Given the description of an element on the screen output the (x, y) to click on. 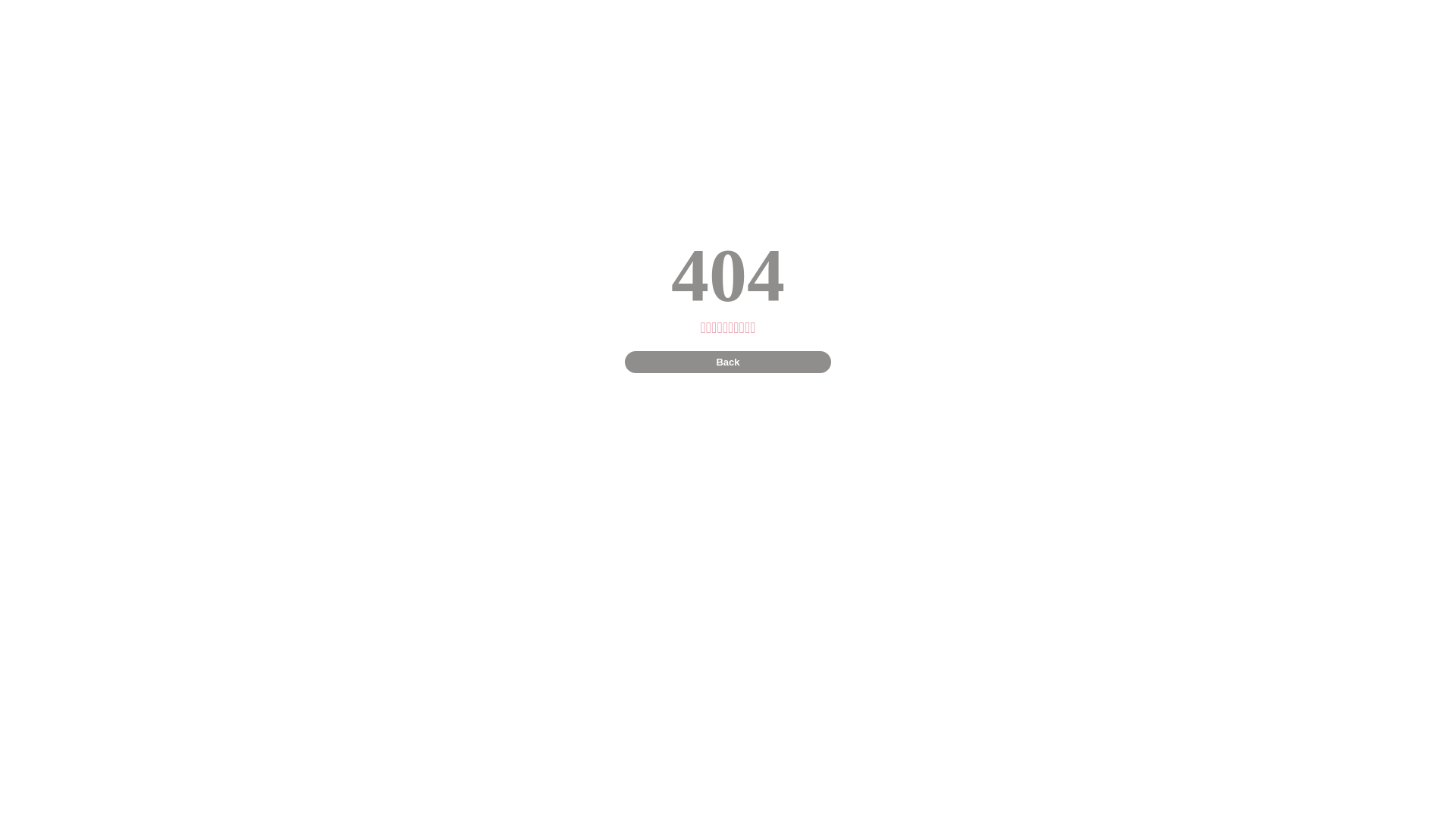
Back Element type: text (727, 362)
